Given the description of an element on the screen output the (x, y) to click on. 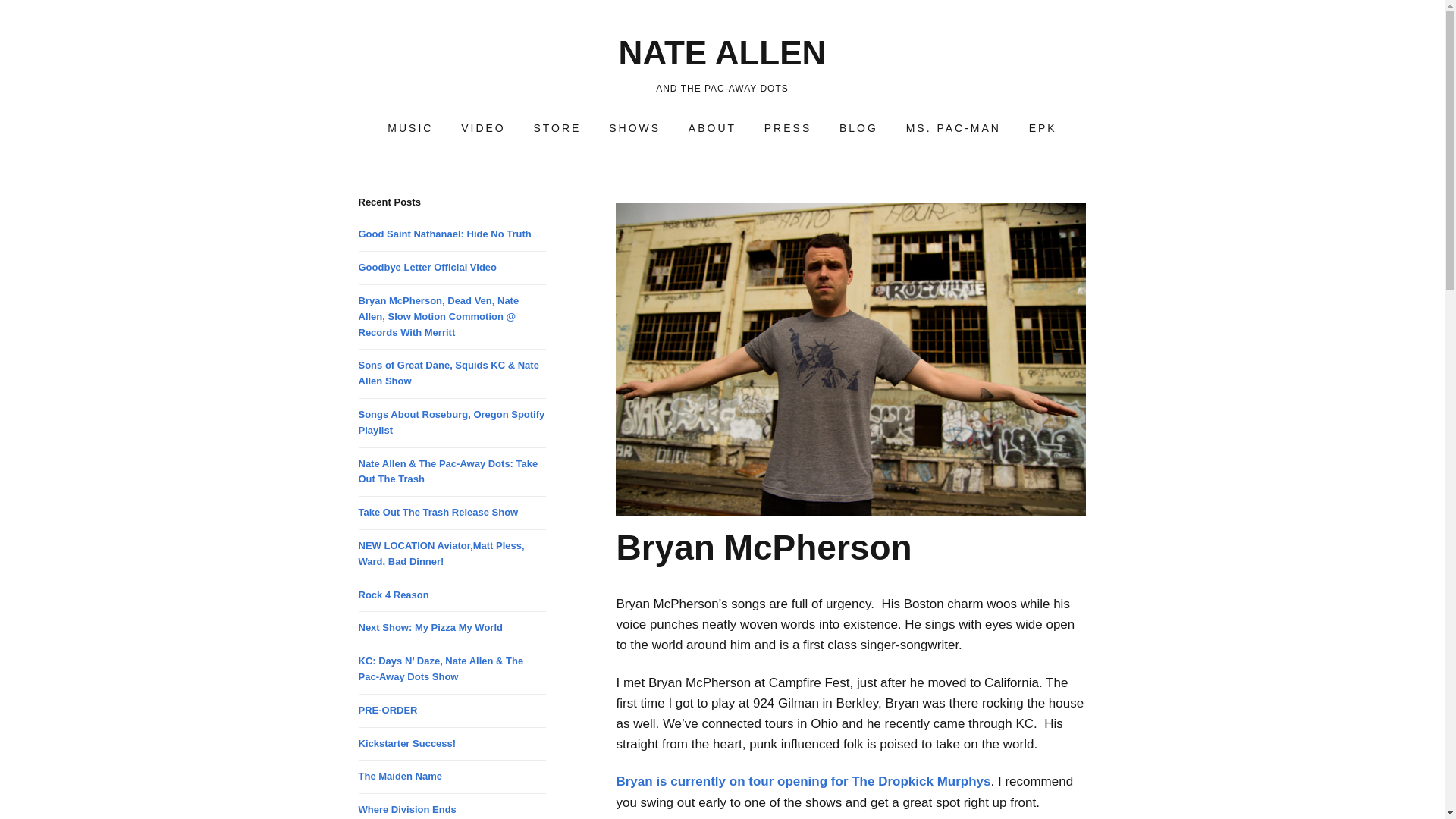
VIDEO (483, 128)
Rock 4 Reason (393, 594)
MEDIA KIT (1042, 128)
Kickstarter Success! (406, 743)
PRESS (788, 128)
Next Show: My Pizza My World (430, 627)
MS. PAC-MAN (953, 128)
EPK (1042, 128)
Goodbye Letter Official Video (427, 266)
MUSIC (410, 128)
PRESS (788, 128)
STORE (556, 128)
SHOWS (634, 128)
BLOG (858, 128)
Take Out The Trash Release Show (438, 511)
